Given the description of an element on the screen output the (x, y) to click on. 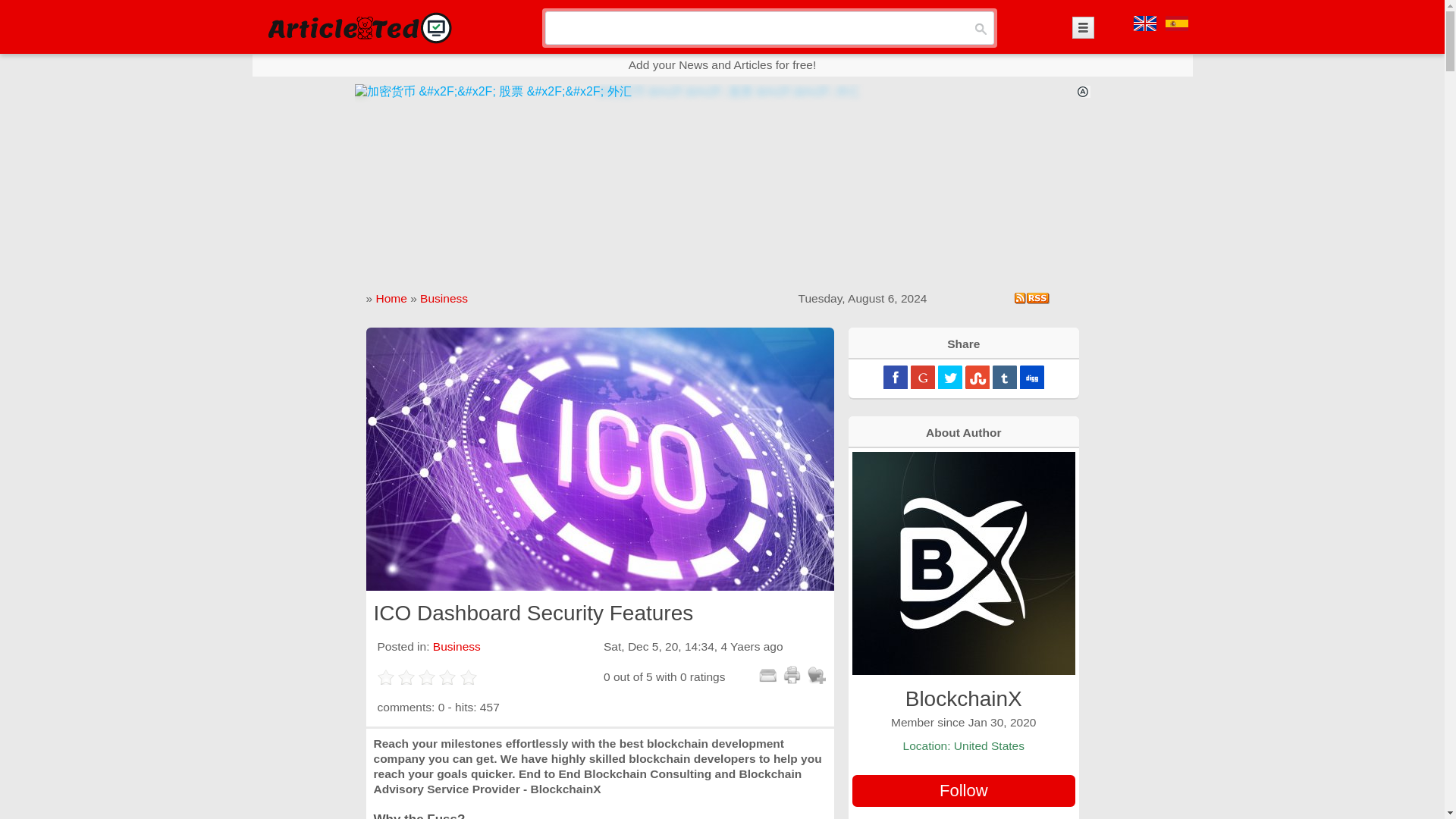
ArticleTed -  News and Articles (357, 27)
Follow (963, 790)
Business (456, 645)
Business (443, 297)
Home (390, 297)
ICO Dashboard Security Features (598, 458)
